Given the description of an element on the screen output the (x, y) to click on. 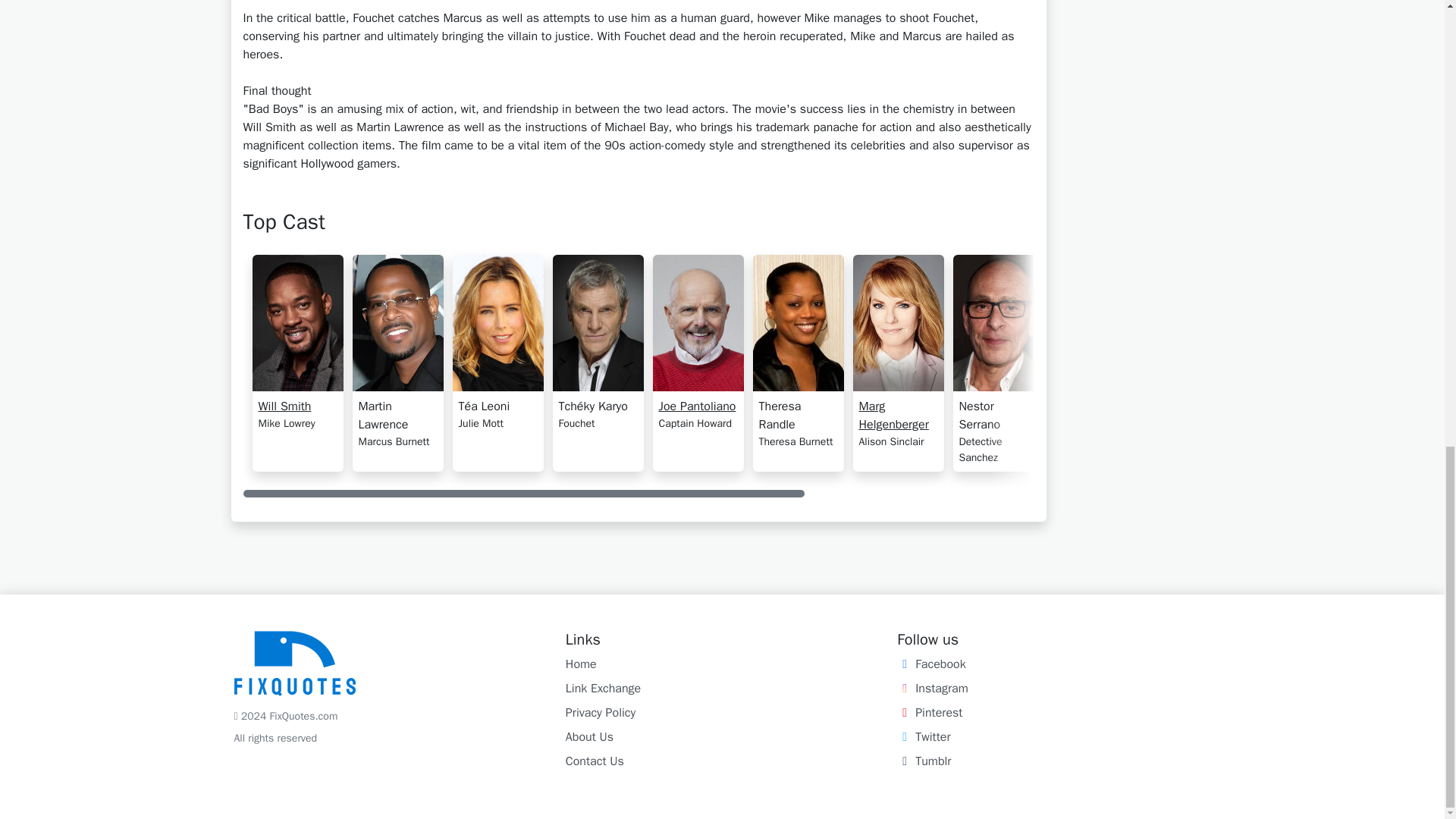
Twitter (923, 736)
Instagram (932, 688)
About Us (589, 736)
Privacy Policy (600, 712)
Home (581, 663)
Tumblr (923, 761)
Pinterest (929, 712)
Link Exchange (603, 688)
Facebook (930, 663)
Contact Us (595, 761)
